Given the description of an element on the screen output the (x, y) to click on. 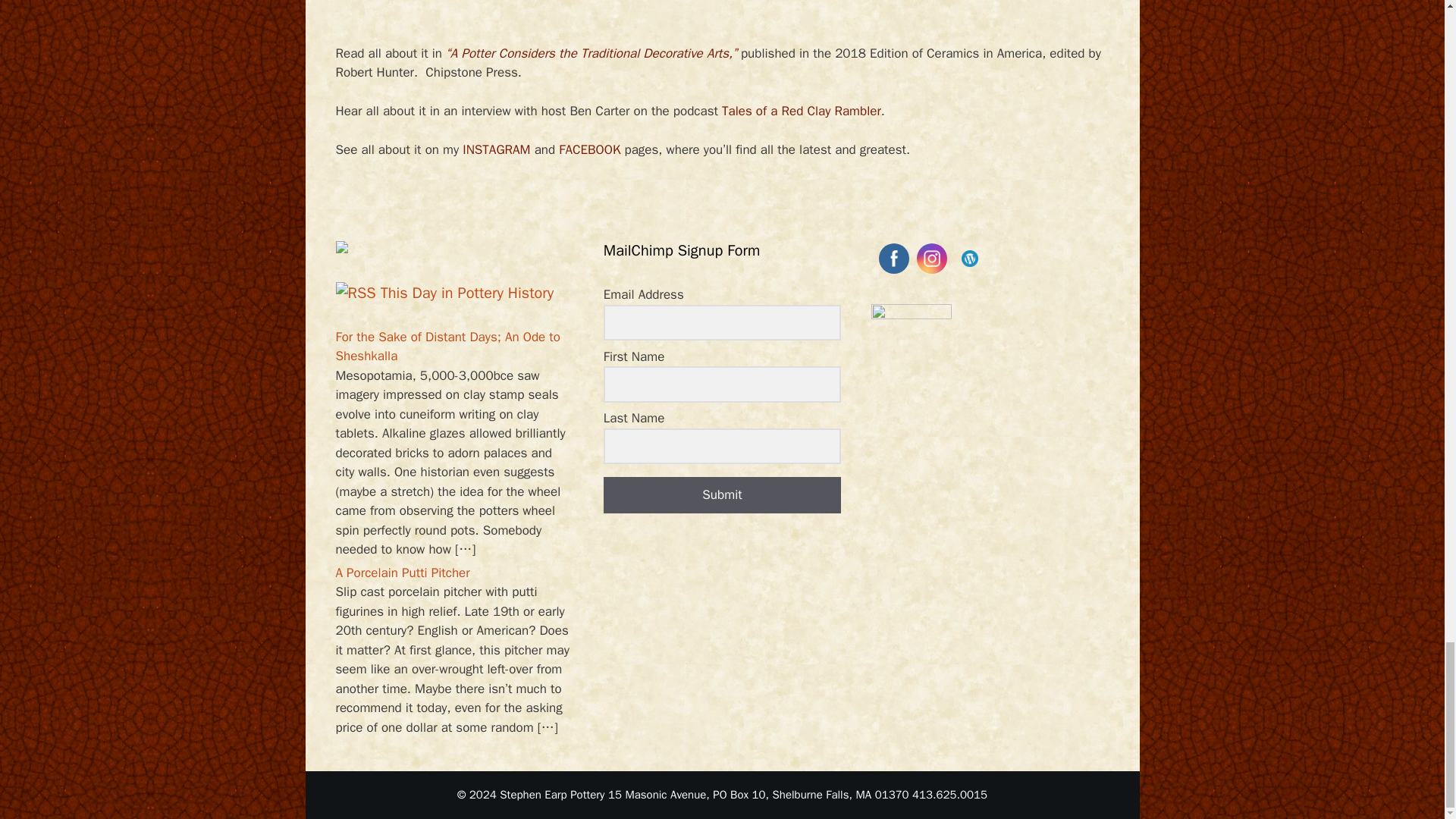
Submit (722, 494)
This Day in Pottery History (467, 292)
Facebook (893, 258)
Tales of a Red Clay Rambler (801, 110)
For the Sake of Distant Days; An Ode to Sheshkalla (446, 346)
FACEBOOK (589, 149)
A Porcelain Putti Pitcher (401, 572)
INSTAGRAM (496, 149)
